Given the description of an element on the screen output the (x, y) to click on. 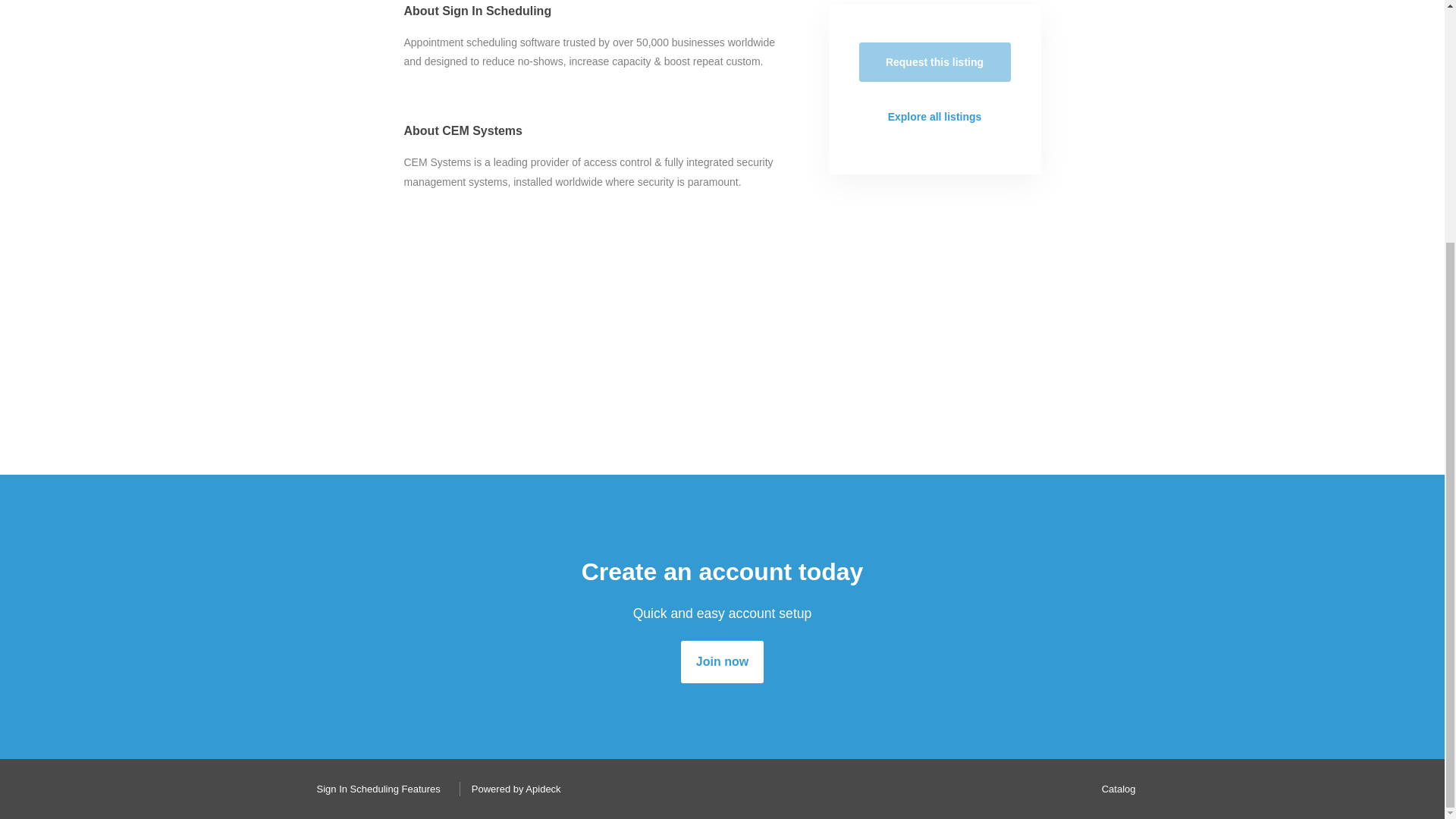
Sign In Scheduling Features (374, 789)
Catalog (1115, 789)
Powered by Apideck (512, 789)
Join now (721, 661)
Request this listing (934, 61)
Explore all listings (934, 116)
